Given the description of an element on the screen output the (x, y) to click on. 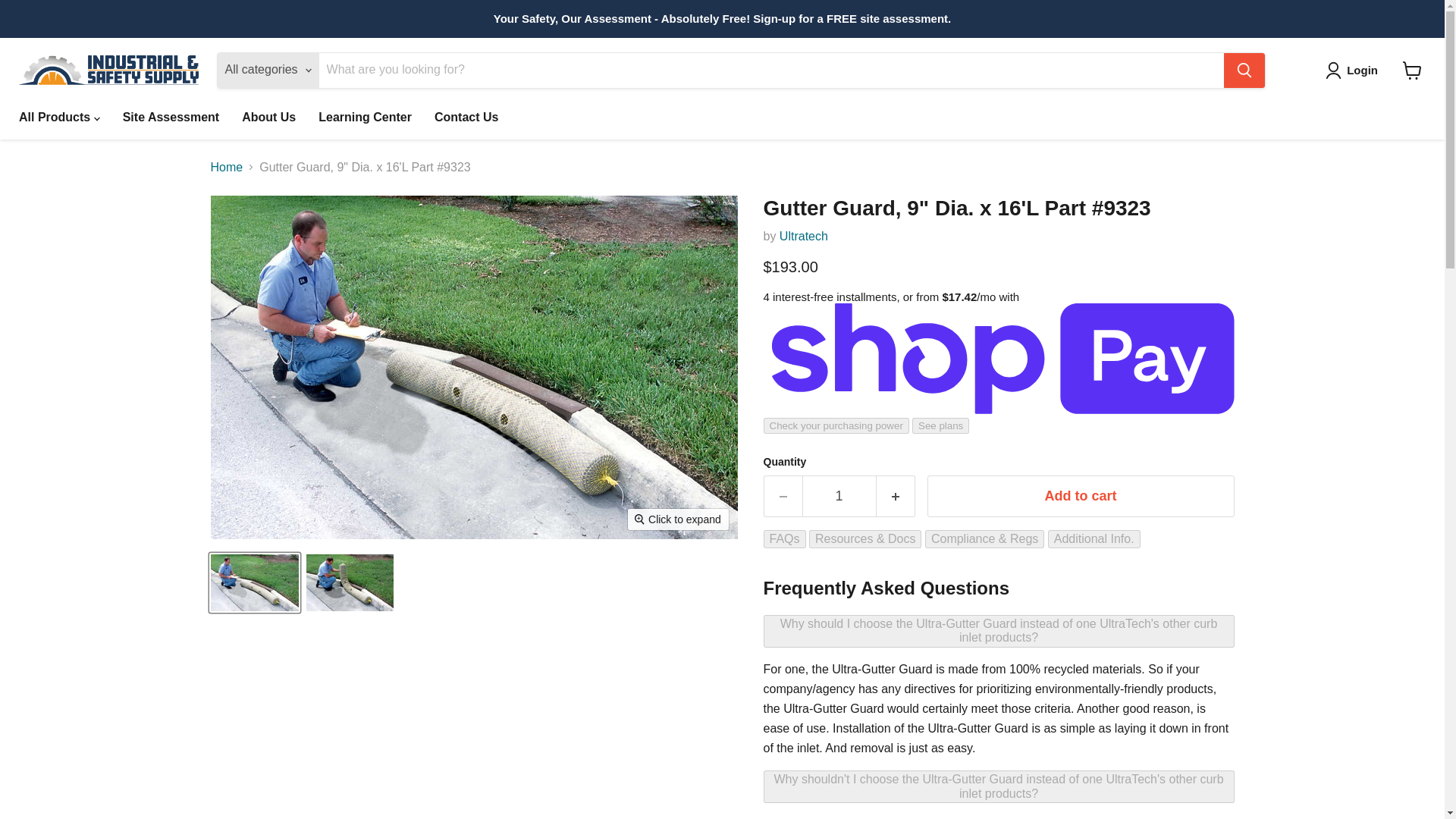
View cart (1411, 69)
Login (1354, 70)
Ultratech (803, 236)
1 (839, 495)
